Given the description of an element on the screen output the (x, y) to click on. 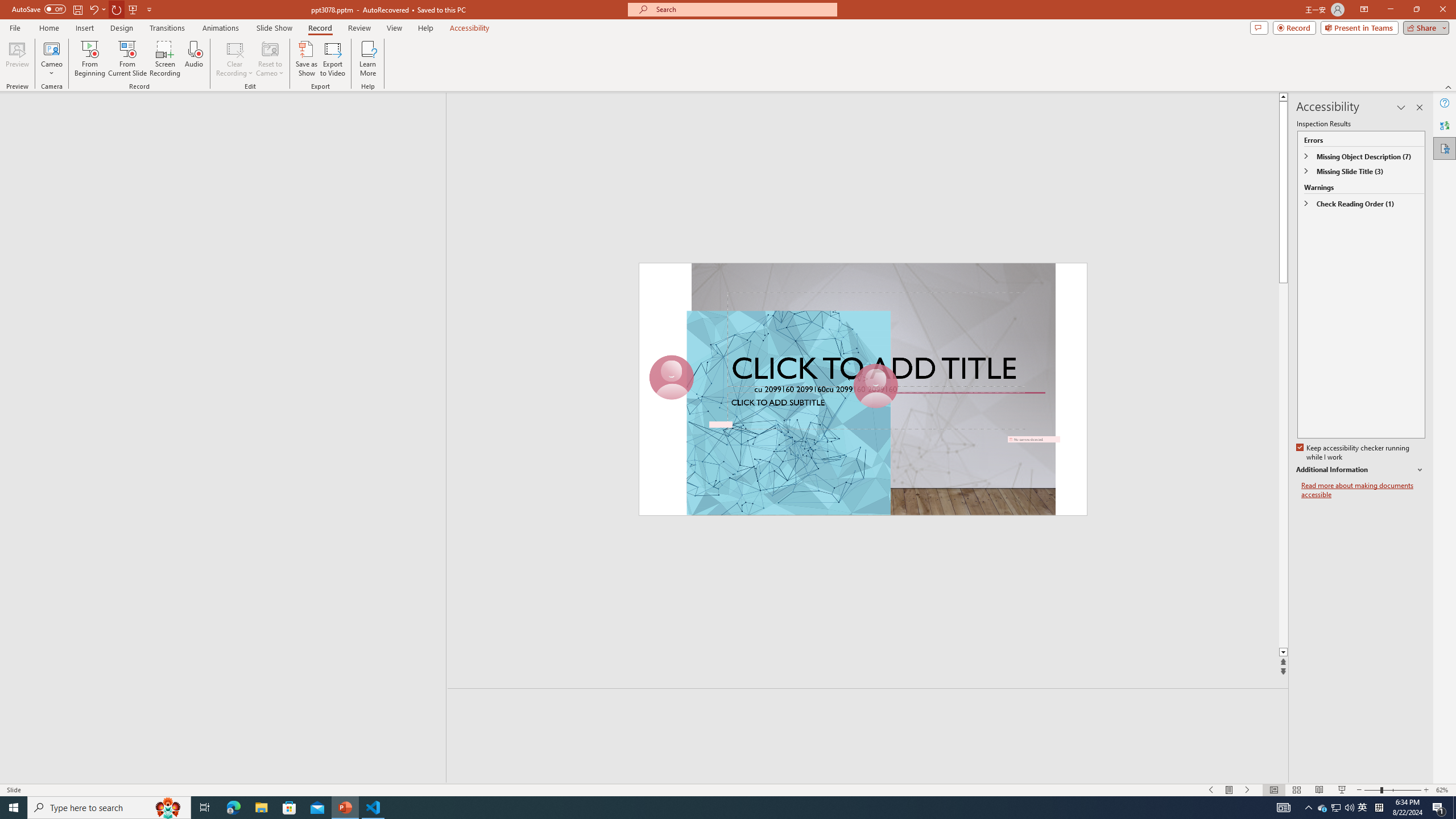
Zoom 62% (1443, 790)
Slide Show Previous On (1211, 790)
